Given the description of an element on the screen output the (x, y) to click on. 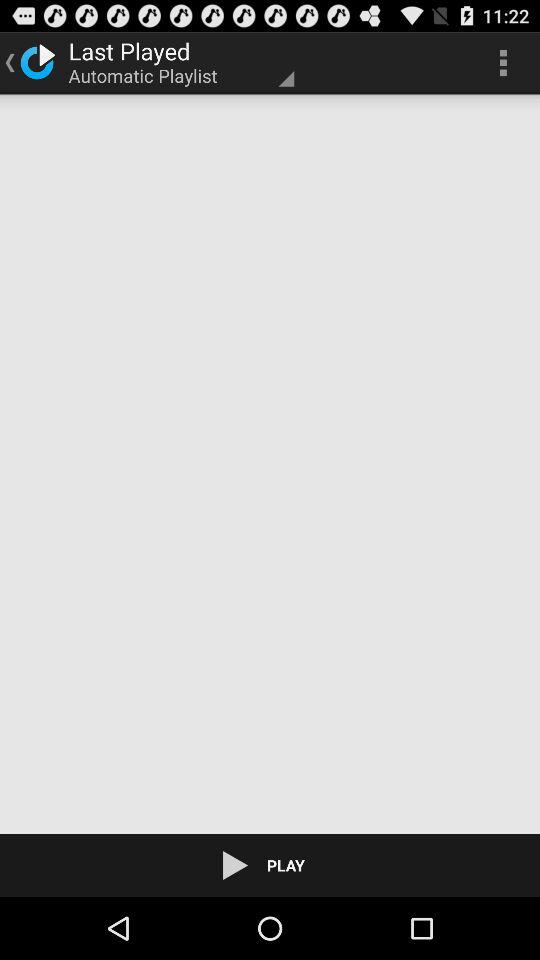
turn on icon next to the automatic playlist (503, 62)
